Given the description of an element on the screen output the (x, y) to click on. 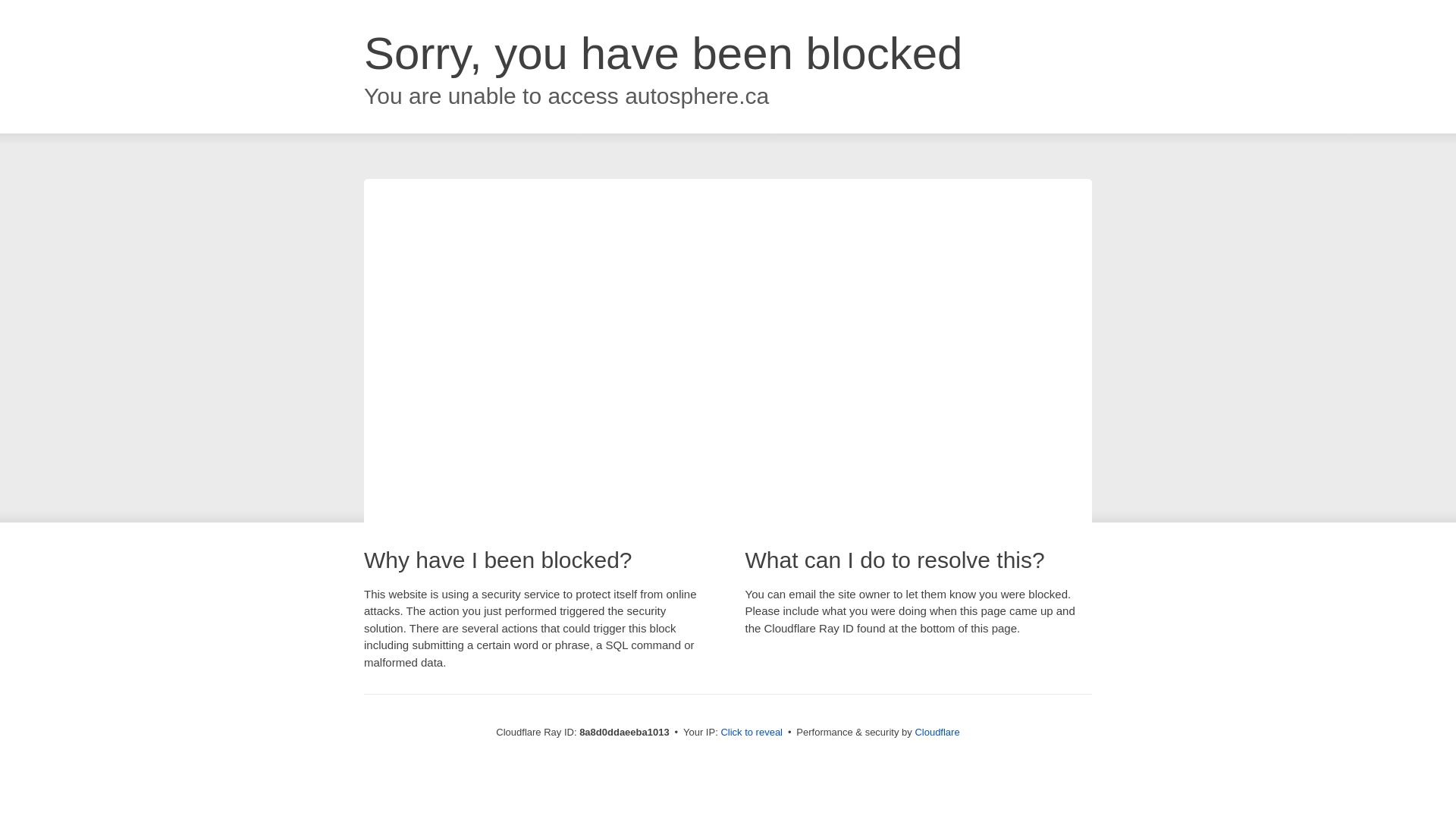
Click to reveal (751, 732)
Cloudflare (936, 731)
